Given the description of an element on the screen output the (x, y) to click on. 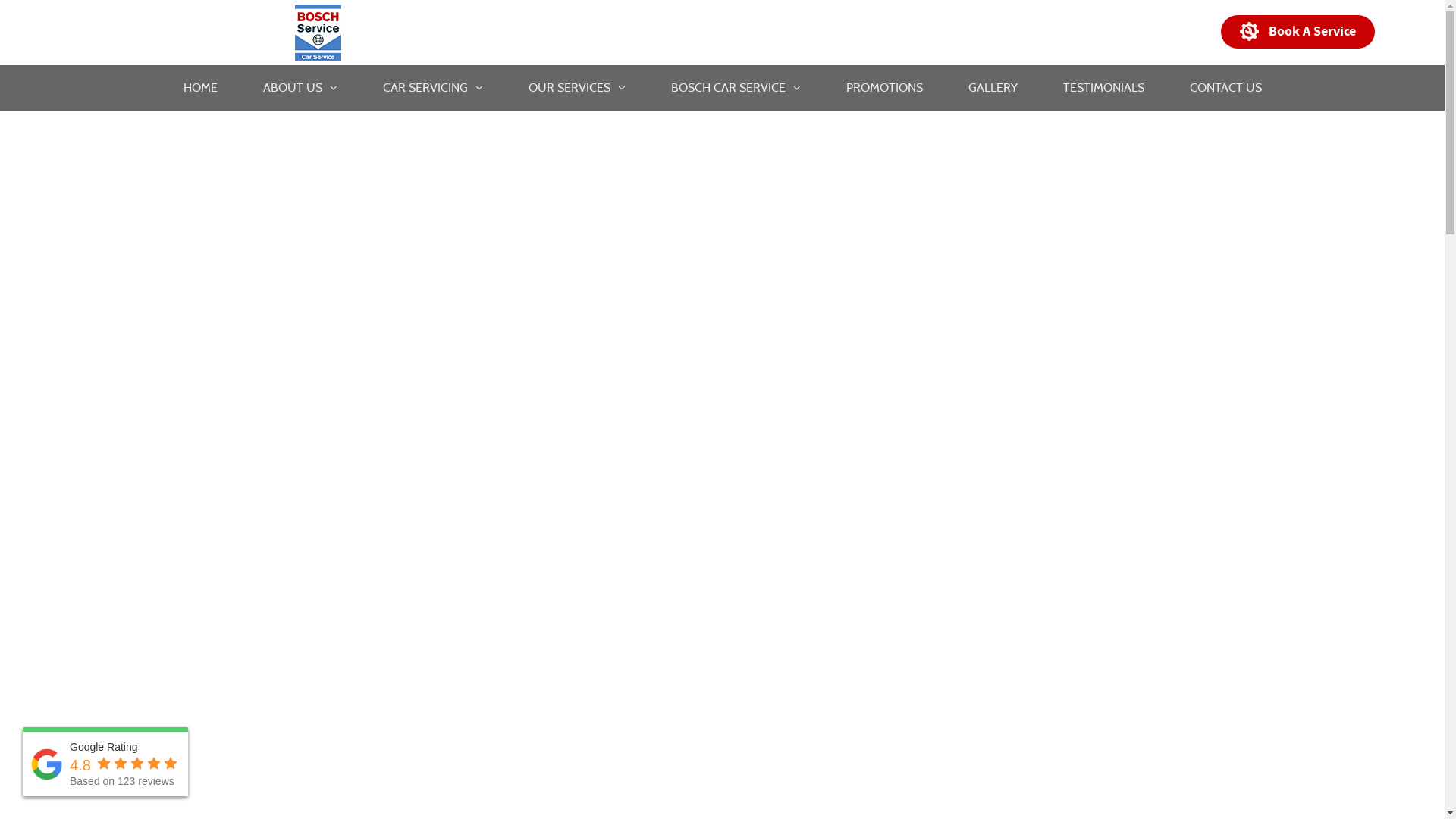
CAR SERVICING Element type: text (432, 87)
ABOUT US Element type: text (299, 87)
HOME Element type: text (200, 87)
TESTIMONIALS Element type: text (1103, 87)
BOSCH CAR SERVICE Element type: text (734, 87)
OUR SERVICES Element type: text (576, 87)
Book A Service Element type: text (1297, 31)
03 5975 7700 Element type: text (1127, 31)
GALLERY Element type: text (991, 87)
CONTACT US Element type: text (1224, 87)
PROMOTIONS Element type: text (884, 87)
